Given the description of an element on the screen output the (x, y) to click on. 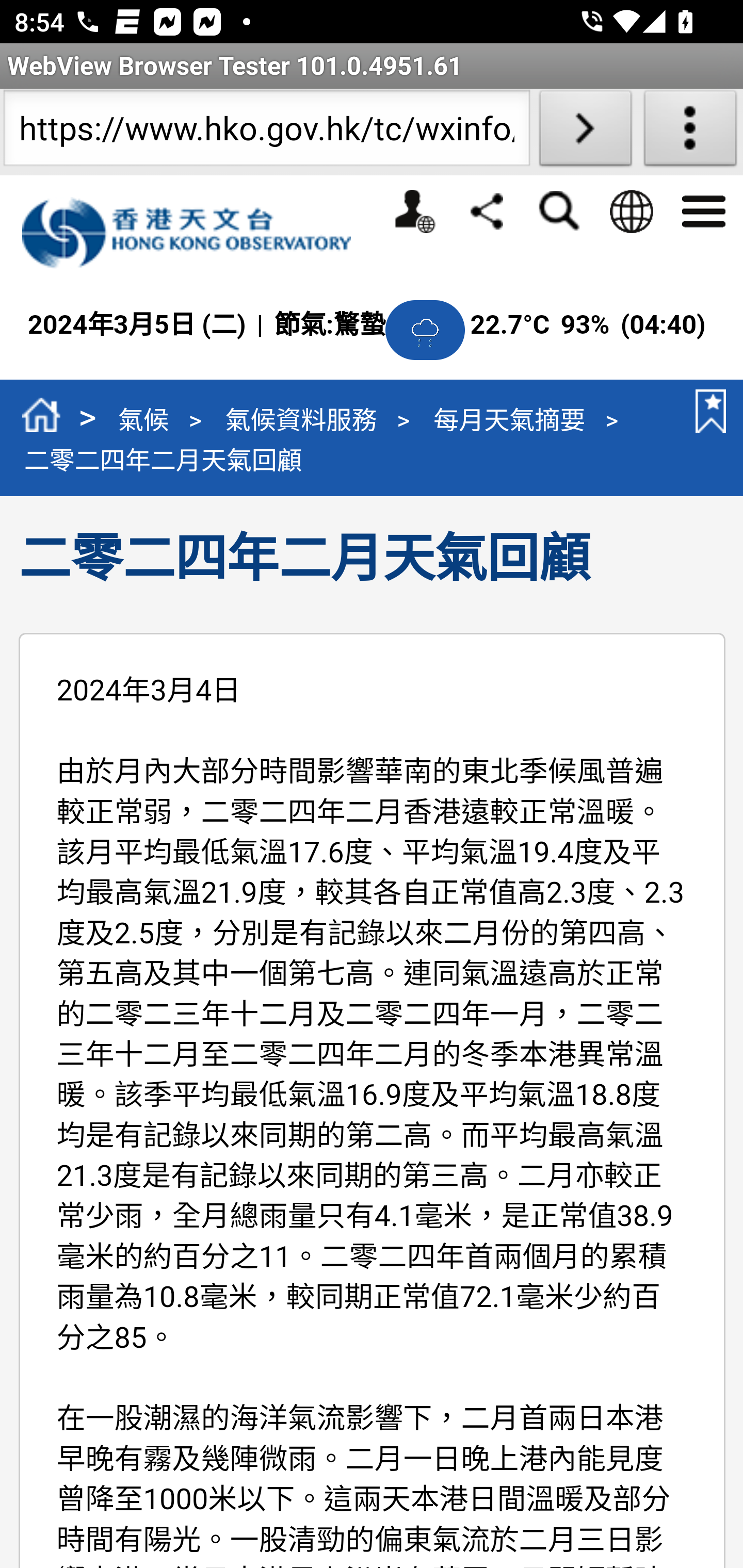
Load URL (585, 132)
About WebView (690, 132)
香港天文台 (197, 233)
個人版網站 個人版網站 (414, 211)
搜尋 搜尋 (558, 211)
語言 語言 (630, 211)
分享 分享 (486, 210)
選單 選單 (703, 209)
書籤 書籤 書籤 書籤 (706, 410)
主頁 (41, 417)
氣候 (143, 419)
氣候資料服務 (300, 419)
每月天氣摘要 (509, 419)
